Given the description of an element on the screen output the (x, y) to click on. 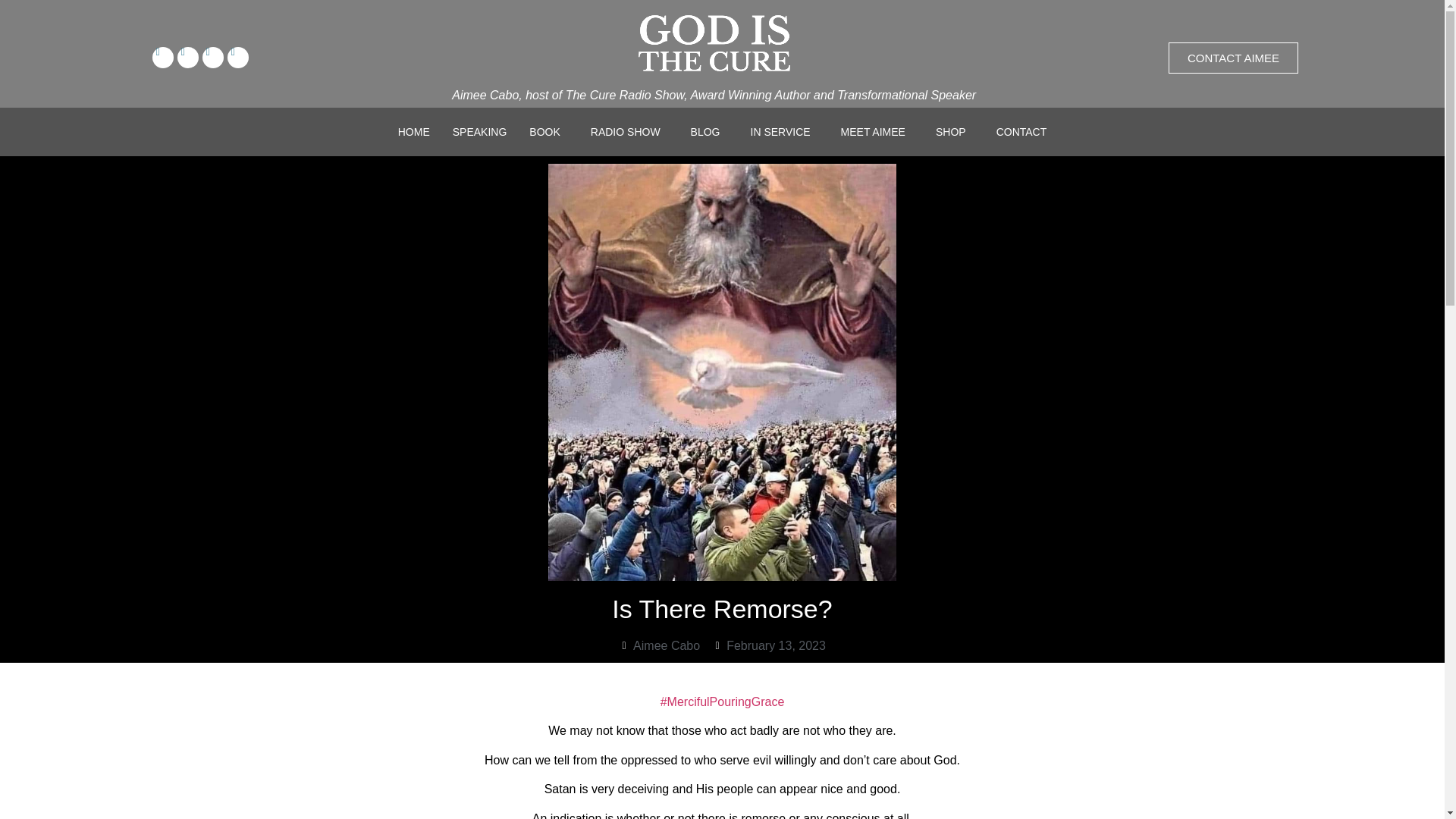
CONTACT (1021, 131)
BOOK (548, 131)
HOME (414, 131)
RADIO SHOW (629, 131)
SPEAKING (479, 131)
MEET AIMEE (876, 131)
BLOG (709, 131)
February 13, 2023 (768, 646)
IN SERVICE (783, 131)
SHOP (954, 131)
